Given the description of an element on the screen output the (x, y) to click on. 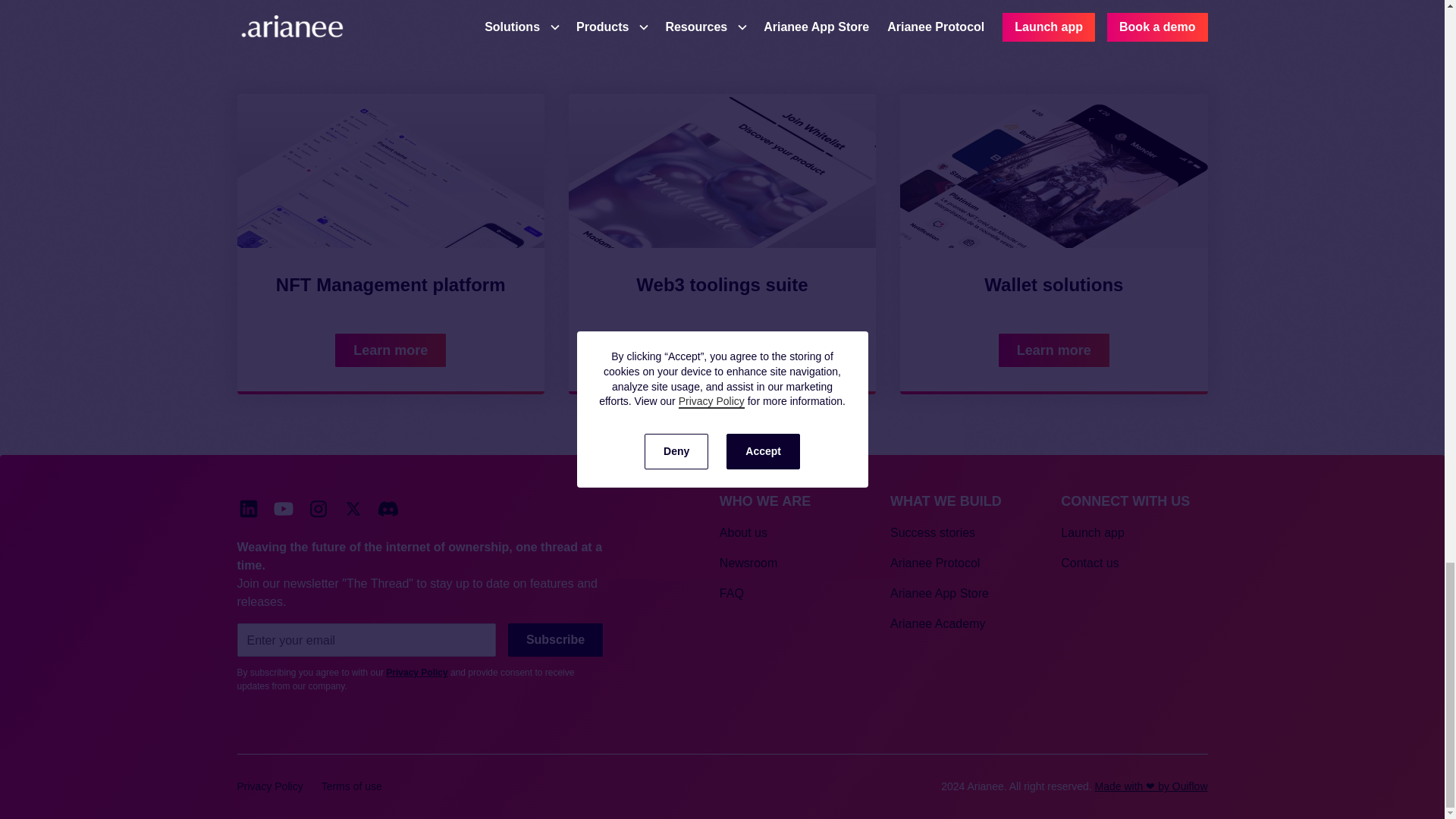
Subscribe (555, 639)
